Given the description of an element on the screen output the (x, y) to click on. 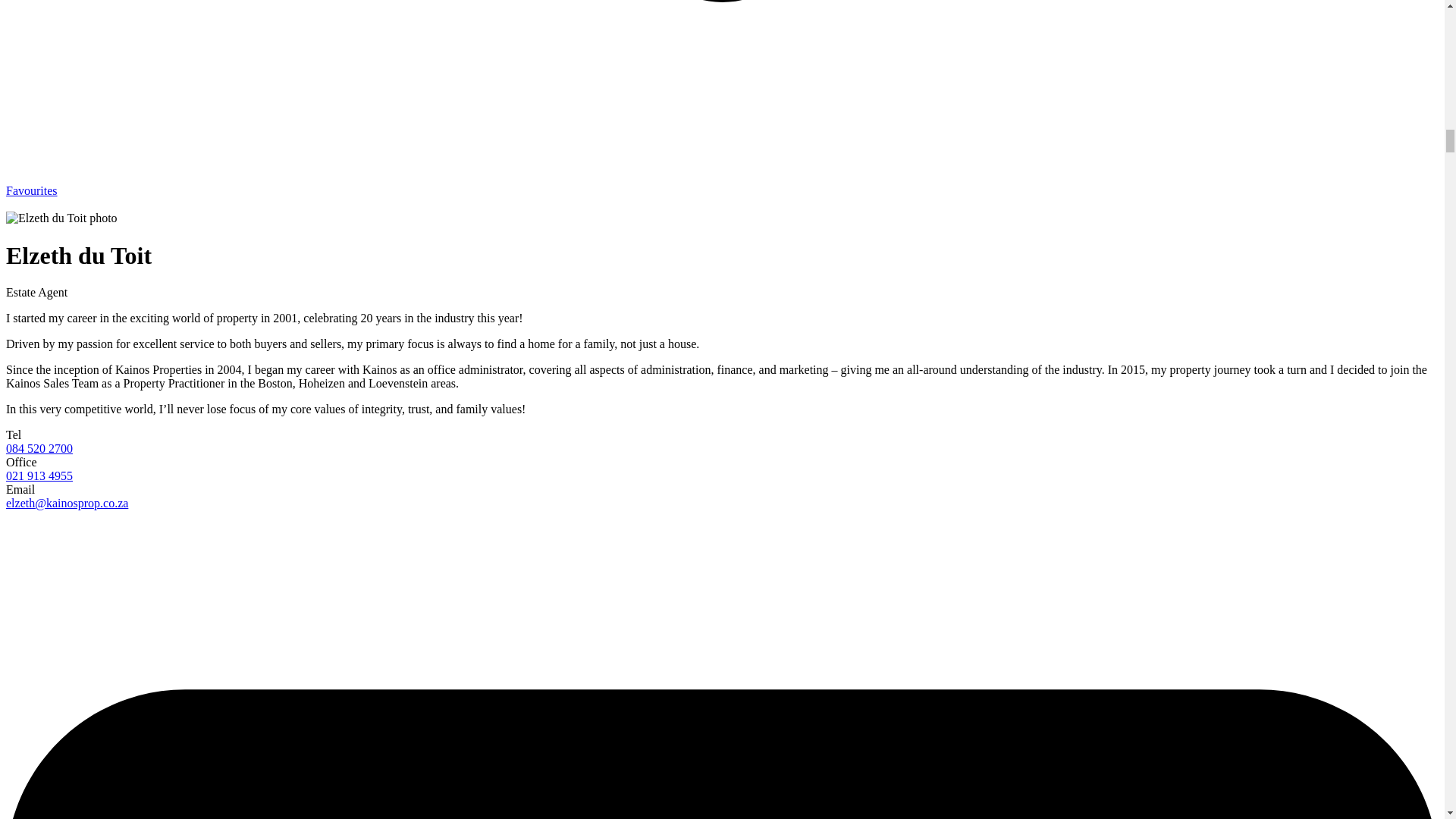
021 913 4955 (38, 475)
084 520 2700 (38, 448)
